Given the description of an element on the screen output the (x, y) to click on. 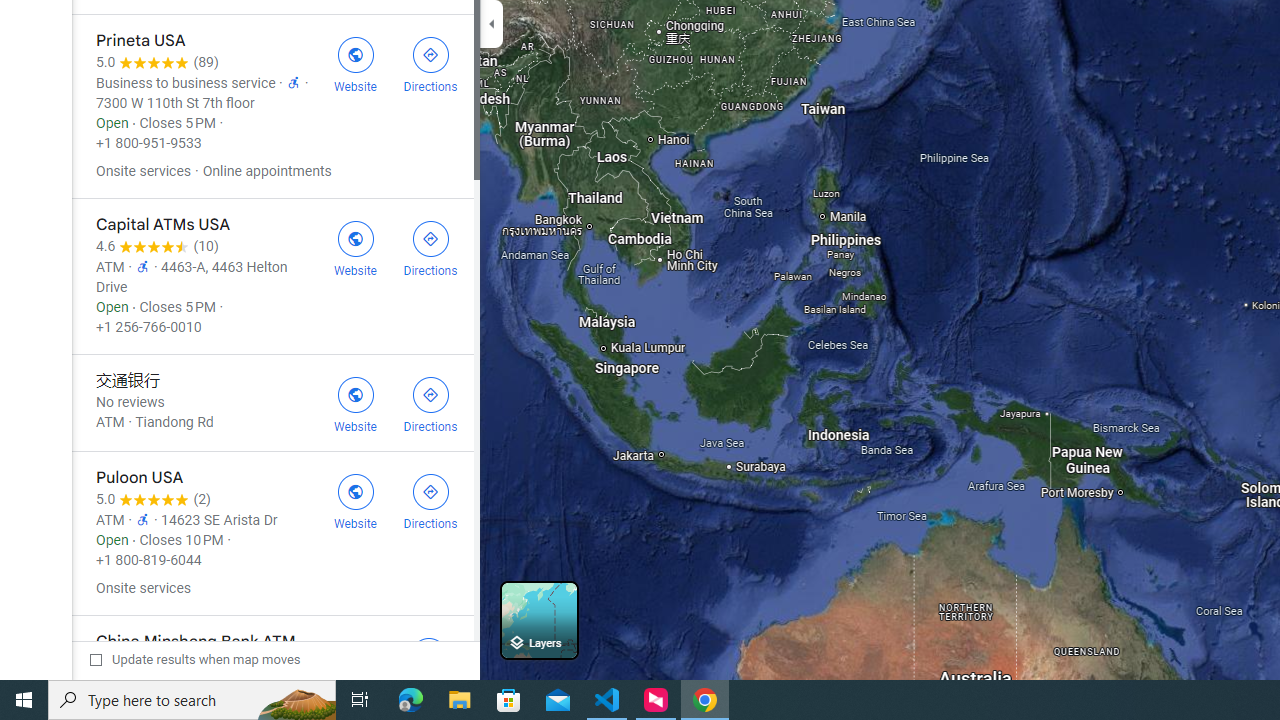
Puloon USA (272, 533)
Wheelchair accessible entrance (142, 518)
Get directions to Capital ATMs USA (430, 247)
Prineta USA (272, 106)
Visit Puloon USA's website (354, 500)
Get directions to Puloon USA (430, 500)
Layers (539, 620)
Visit Capital ATMs USA's website (354, 247)
Visit Prineta USA's website (354, 62)
4.6 stars 10 Reviews (157, 246)
Get directions to China Minsheng Bank ATM (429, 664)
Update results when map moves (194, 659)
